Given the description of an element on the screen output the (x, y) to click on. 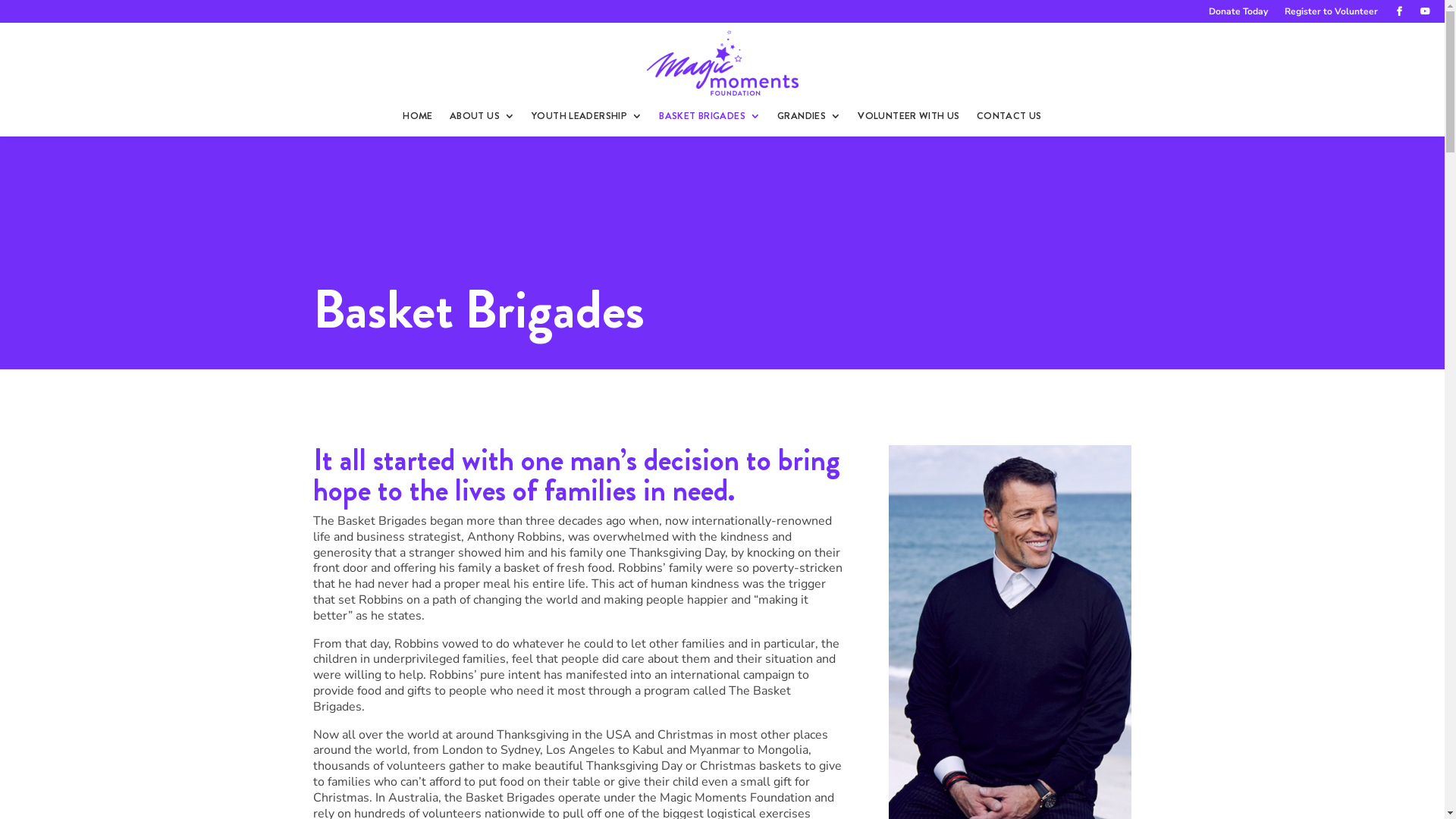
GRANDIES Element type: text (808, 115)
HOME Element type: text (417, 115)
YOUTH LEADERSHIP Element type: text (586, 115)
VOLUNTEER WITH US Element type: text (908, 115)
CONTACT US Element type: text (1008, 115)
ABOUT US Element type: text (481, 115)
BASKET BRIGADES Element type: text (709, 115)
Register to Volunteer Element type: text (1330, 14)
Donate Today Element type: text (1237, 14)
